Given the description of an element on the screen output the (x, y) to click on. 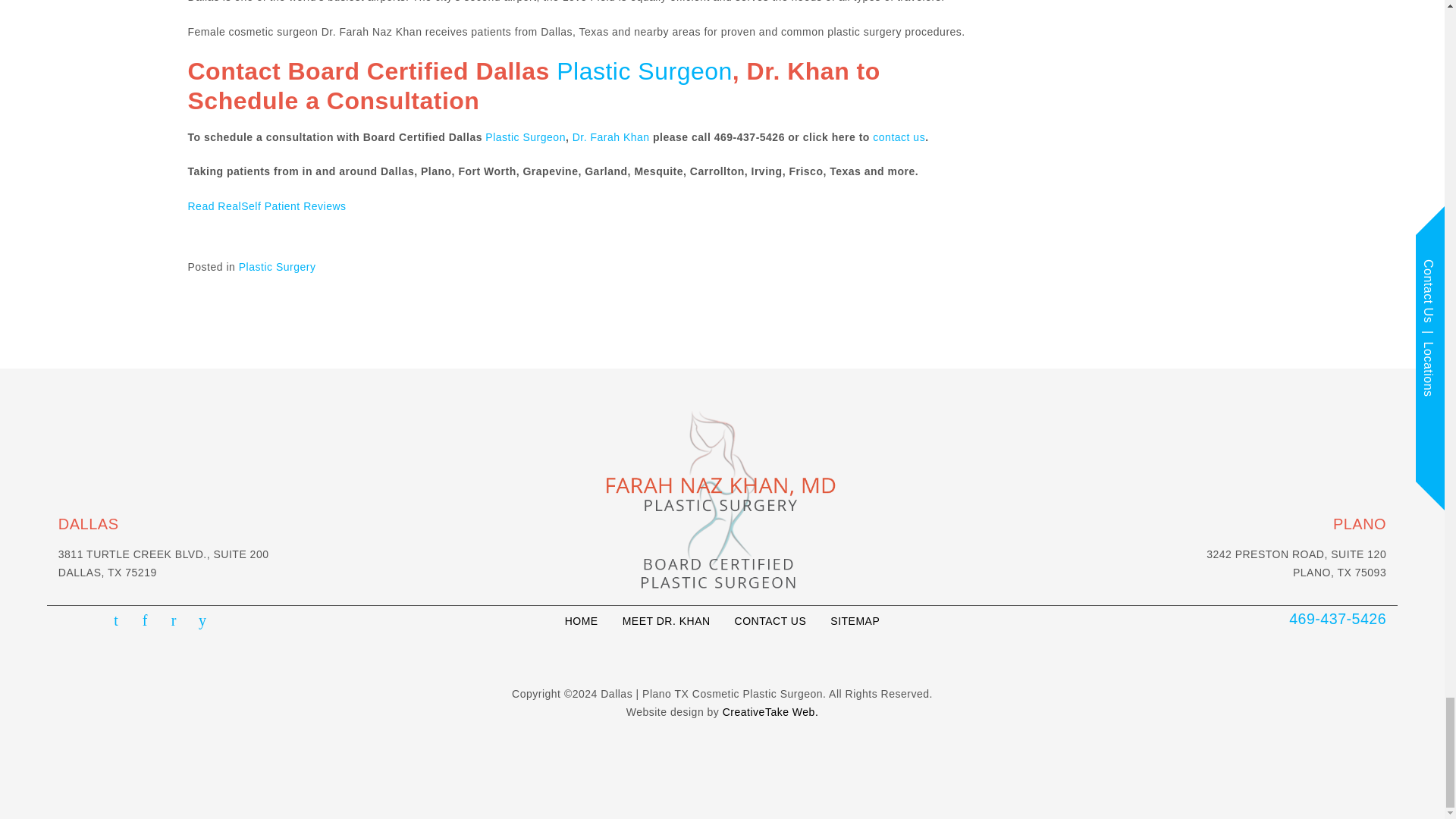
CreativeTake Medical (770, 711)
